Given the description of an element on the screen output the (x, y) to click on. 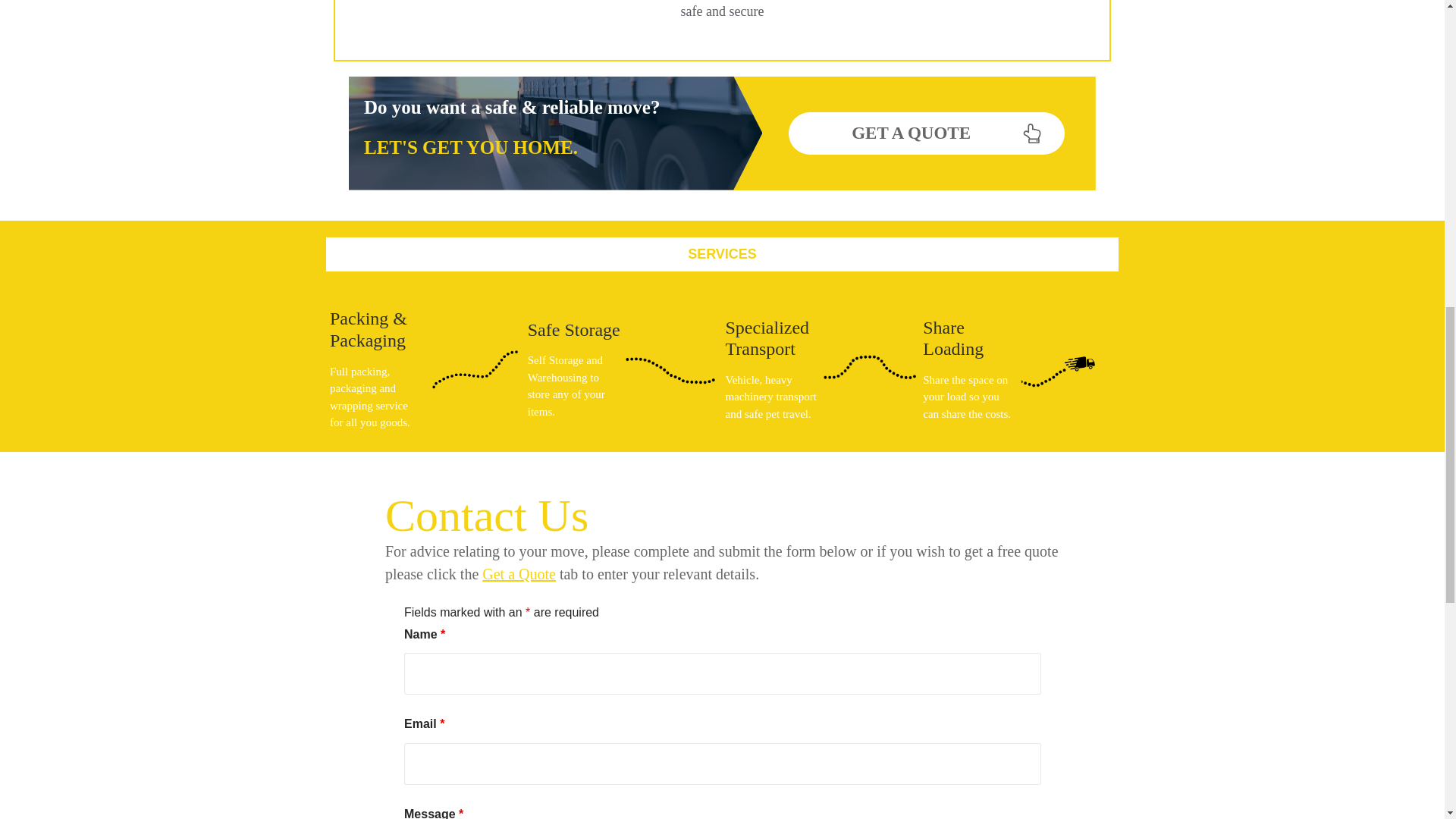
dot1 (474, 368)
GET A QUOTE (926, 133)
SERVICES (722, 253)
dot3 (870, 368)
dot2 (672, 368)
dot4 (1068, 368)
Get a Quote (518, 573)
